Given the description of an element on the screen output the (x, y) to click on. 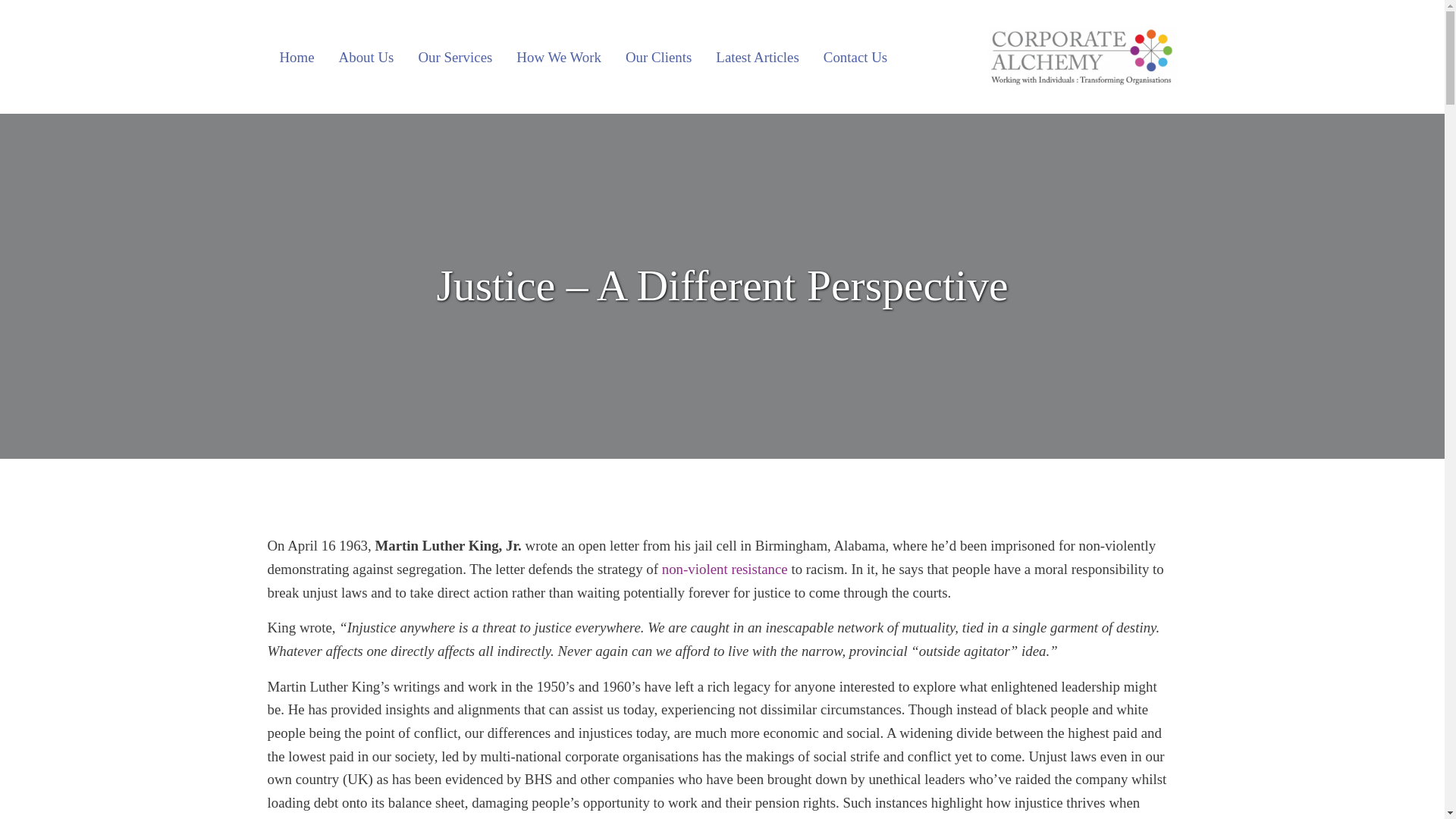
About Us (366, 56)
How We Work (557, 56)
non-violent resistance (724, 569)
Latest Articles (756, 56)
Our Services (454, 56)
Contact Us (854, 56)
Our Clients (657, 56)
Home (296, 56)
